Given the description of an element on the screen output the (x, y) to click on. 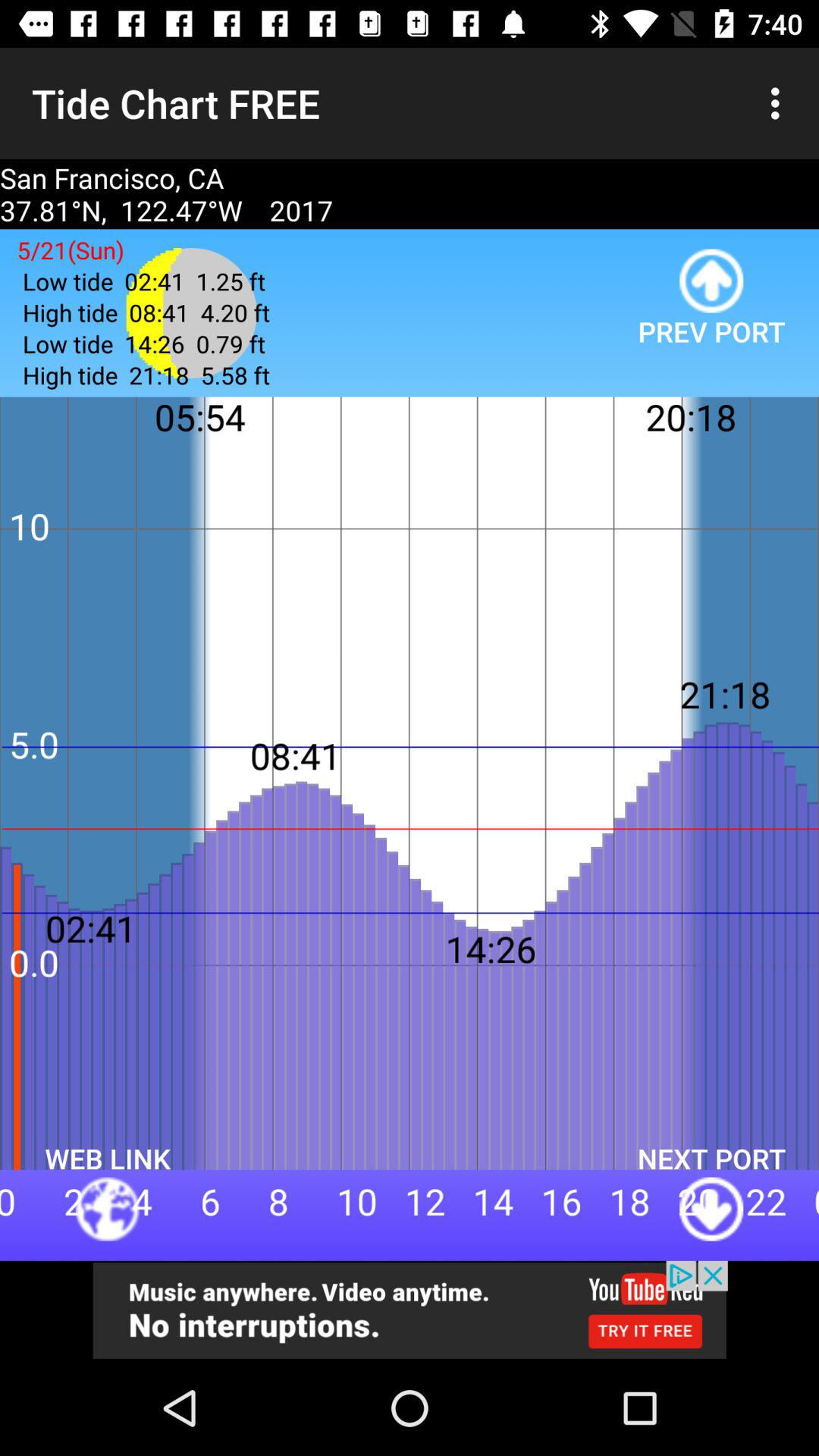
web add (409, 1310)
